Given the description of an element on the screen output the (x, y) to click on. 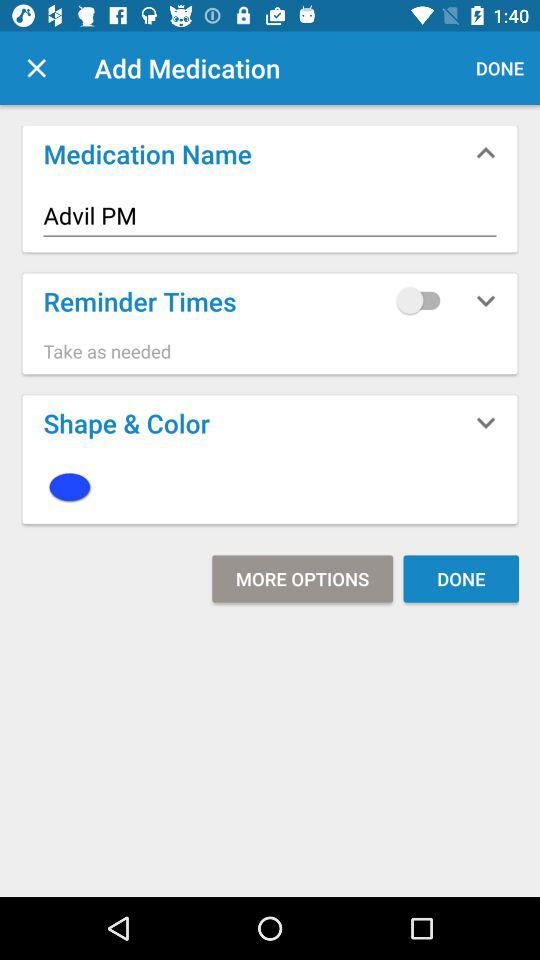
open the item above the take as needed icon (423, 300)
